Given the description of an element on the screen output the (x, y) to click on. 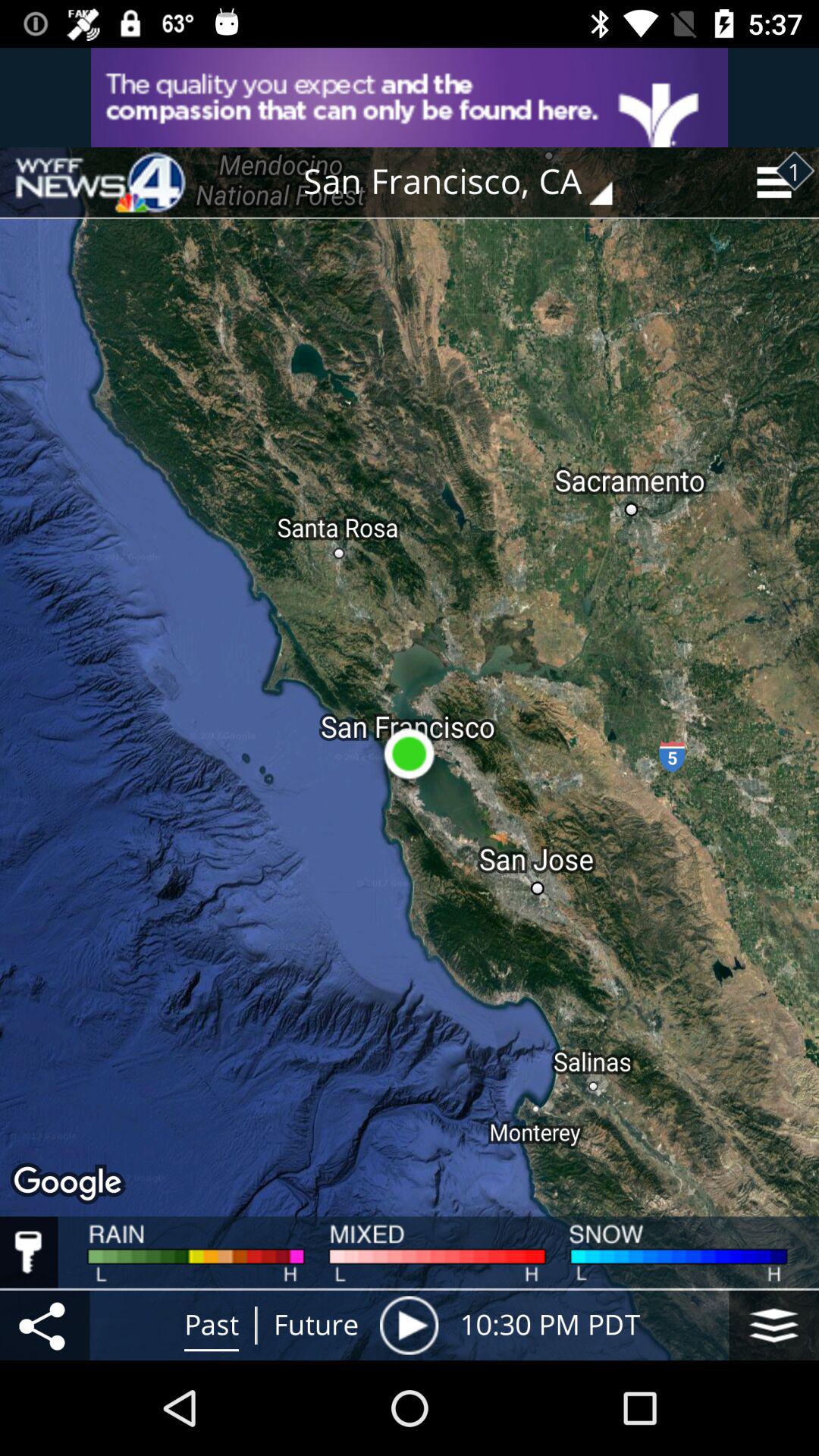
click on the button beside past (315, 1325)
